Given the description of an element on the screen output the (x, y) to click on. 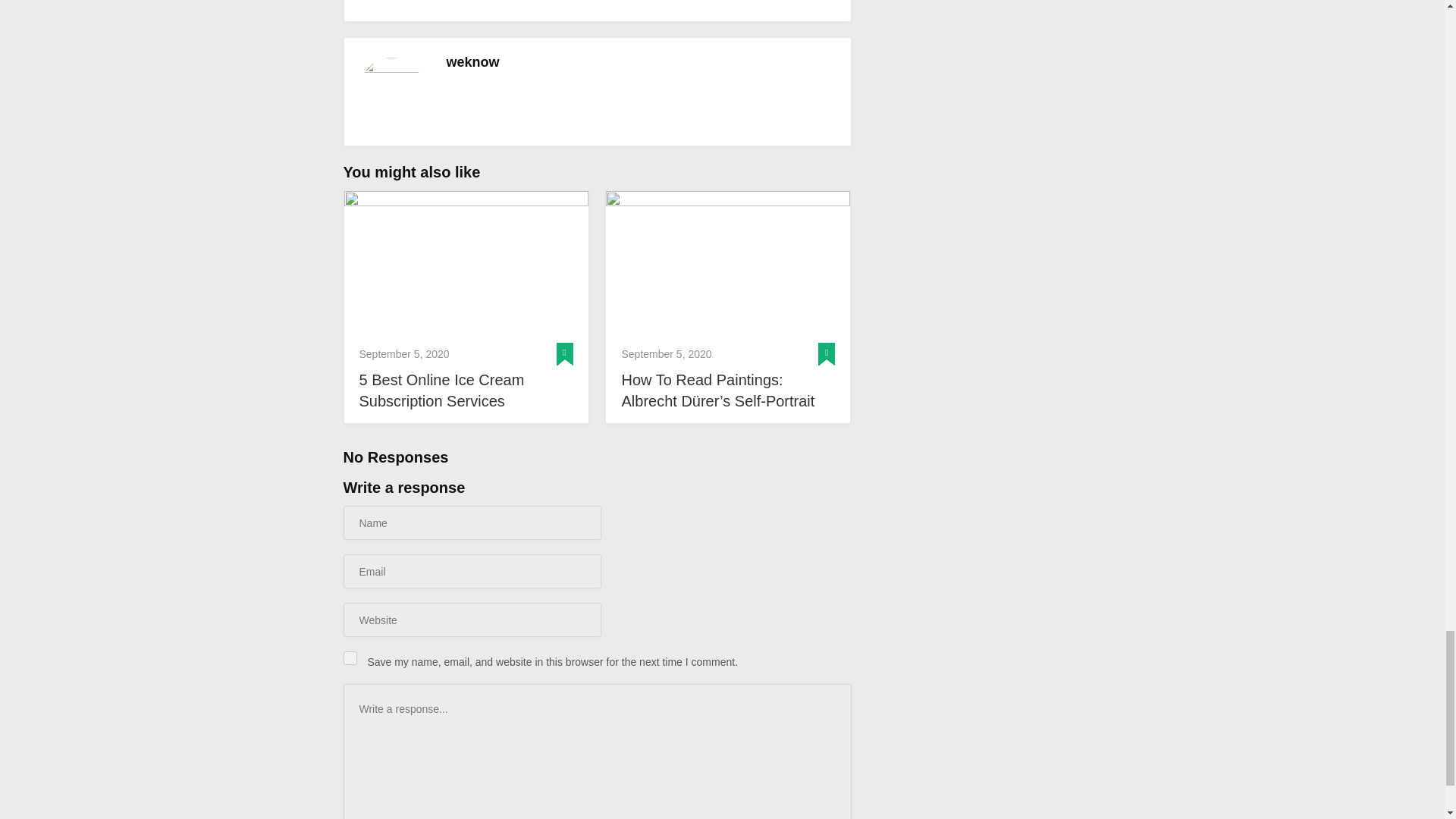
weknow (472, 61)
Like (824, 2)
yes (349, 658)
5 Best Online Ice Cream Subscription Services (466, 390)
5 Best Online Ice Cream Subscription Services (466, 390)
15 (824, 2)
5 Best Online Ice Cream Subscription Services (465, 262)
